Given the description of an element on the screen output the (x, y) to click on. 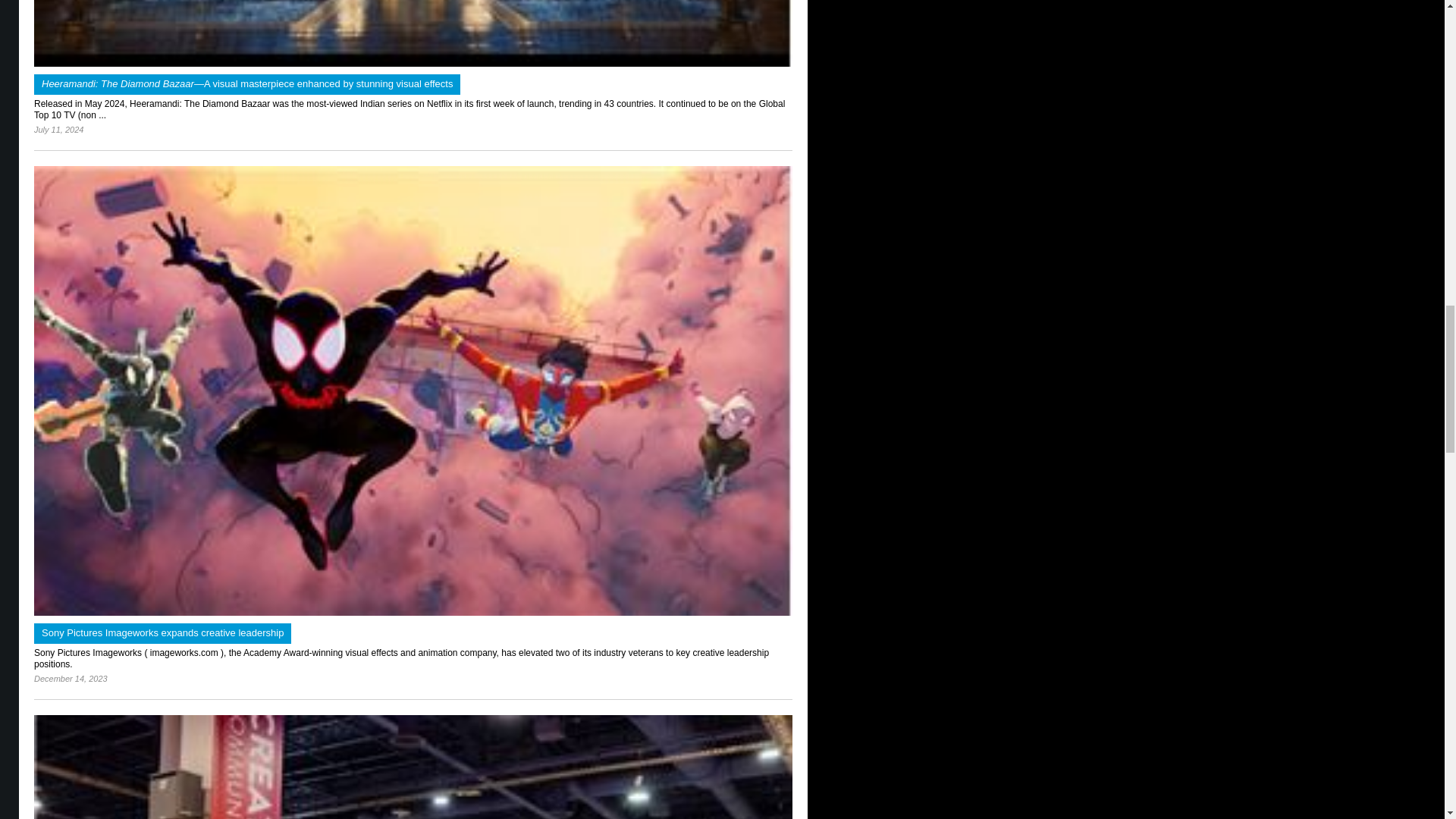
Sony Pictures Imageworks expands creative leadership (162, 633)
Sony Pictures Imageworks expands creative leadership (412, 612)
Sony Pictures Imageworks expands creative leadership (162, 633)
